Given the description of an element on the screen output the (x, y) to click on. 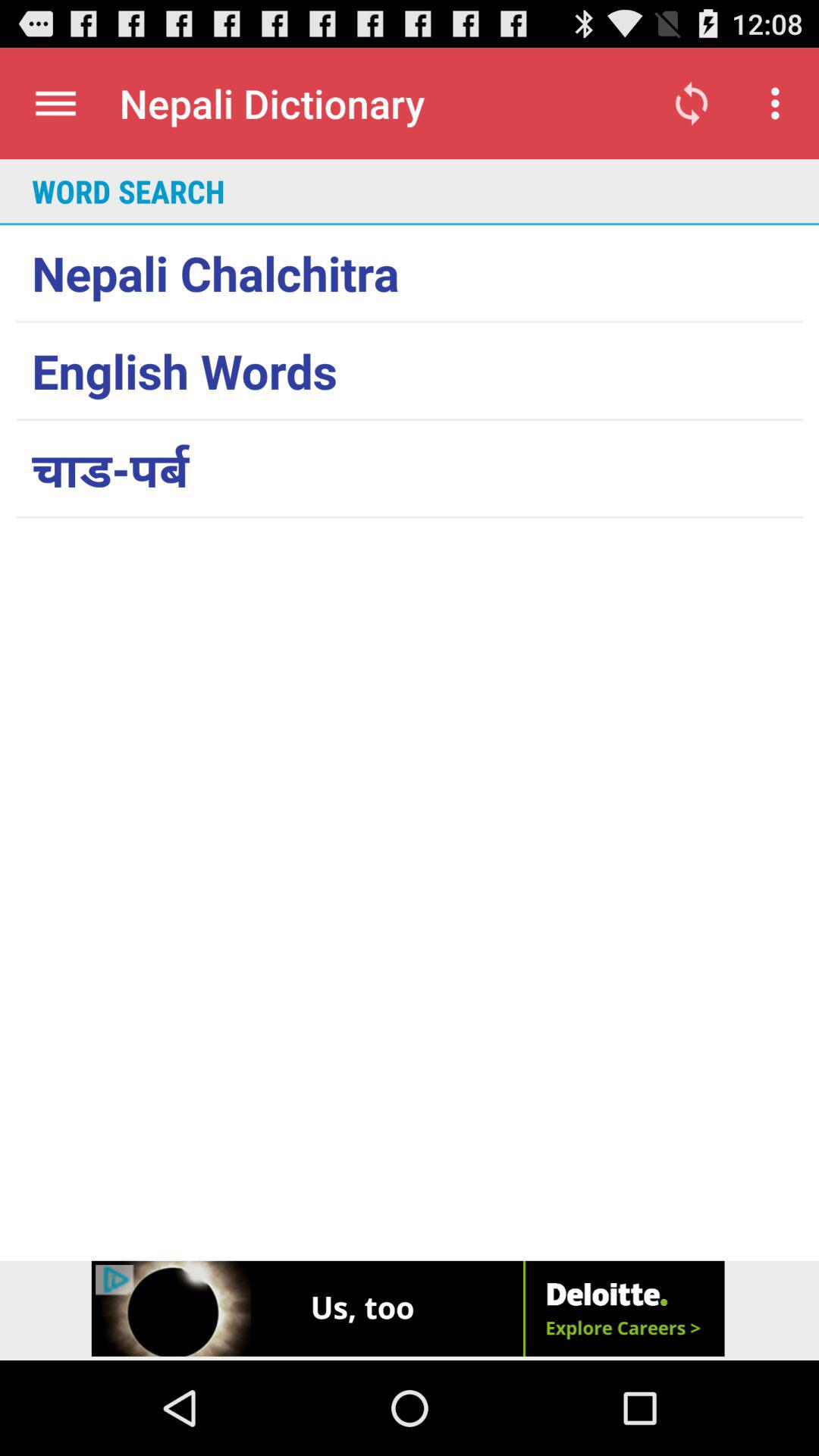
go to advertiser site (409, 1310)
